Given the description of an element on the screen output the (x, y) to click on. 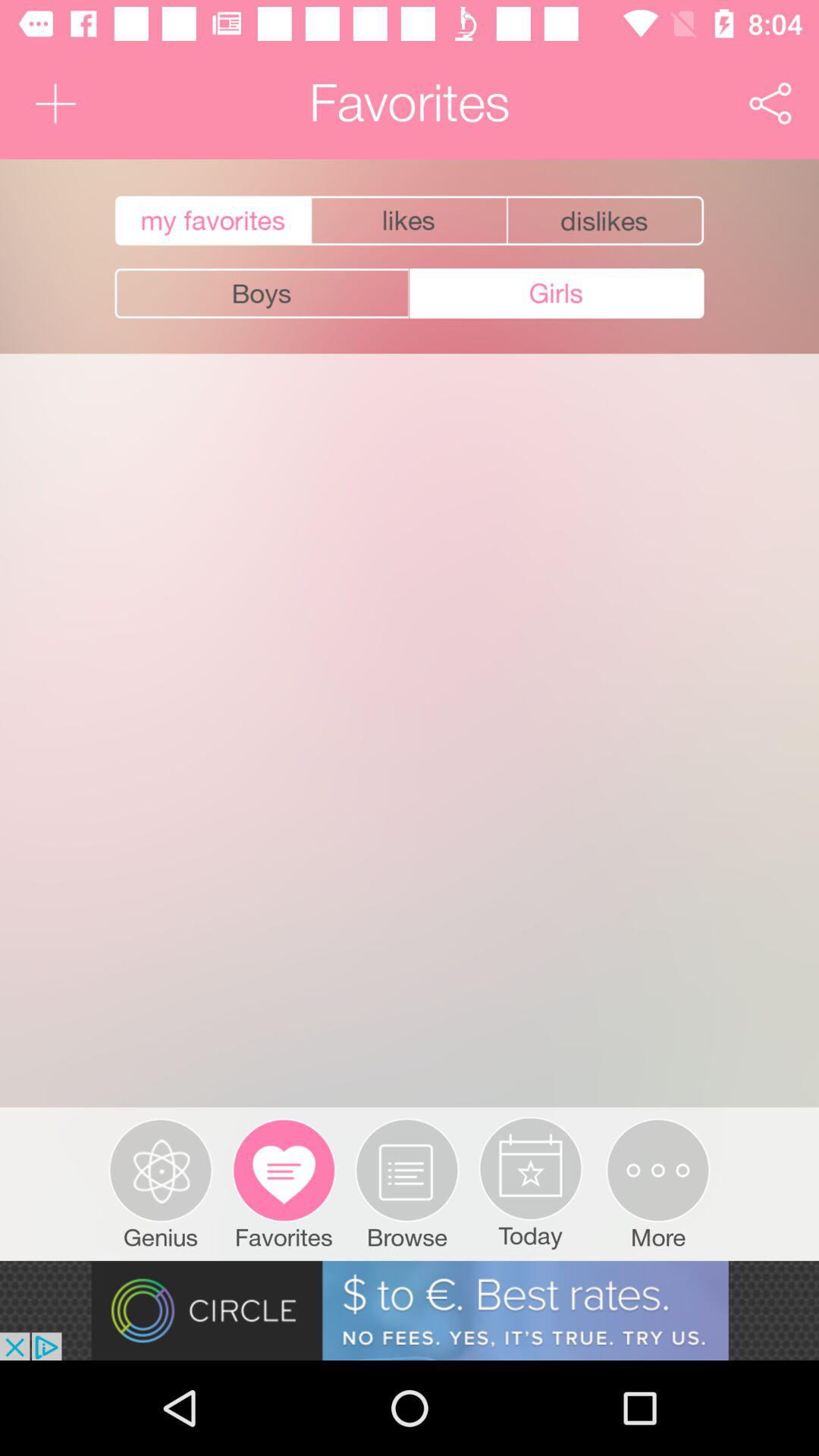
show my likes (409, 220)
